Given the description of an element on the screen output the (x, y) to click on. 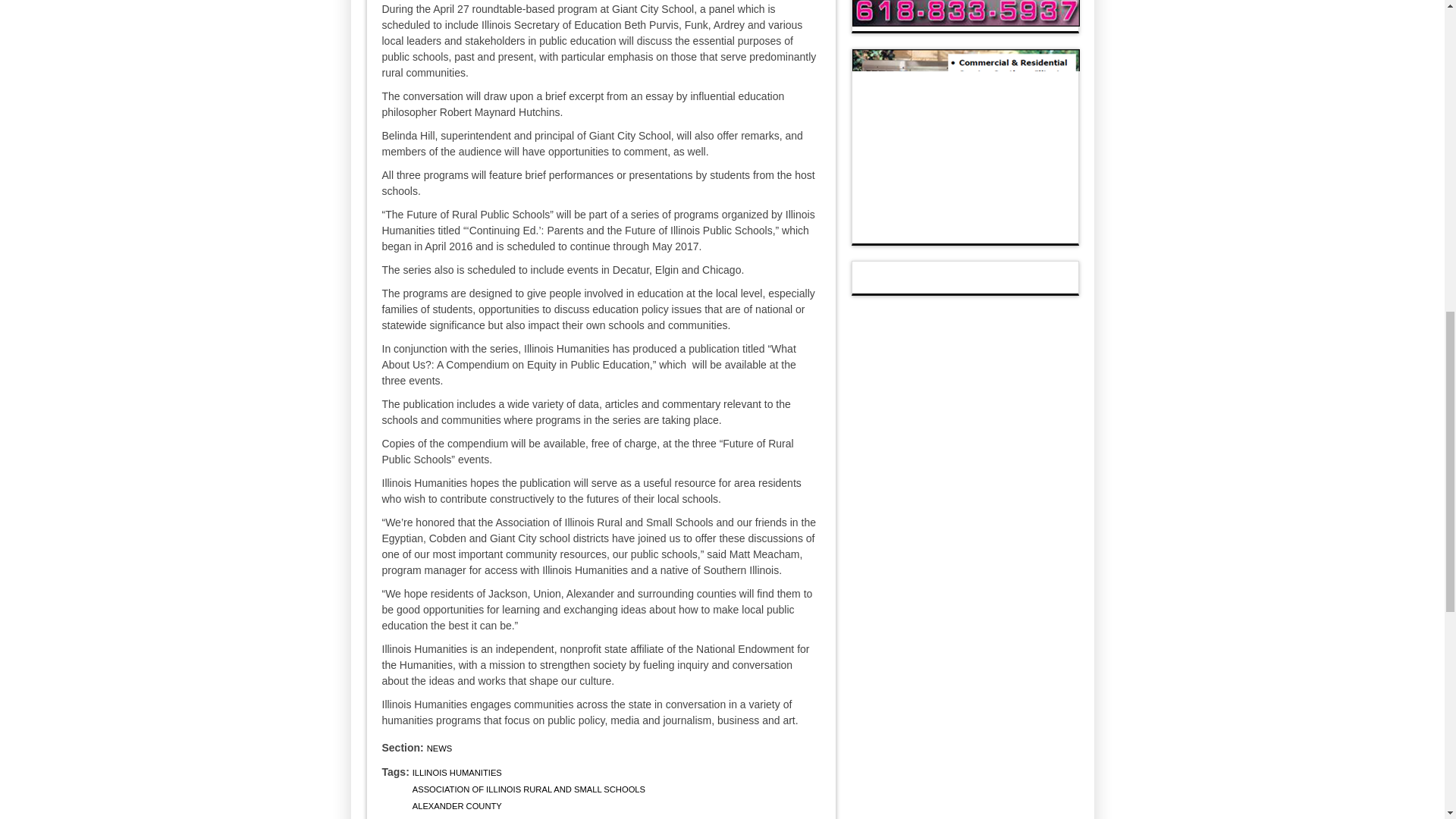
ILLINOIS HUMANITIES (457, 772)
ALEXANDER COUNTY (457, 805)
NEWS (439, 747)
ASSOCIATION OF ILLINOIS RURAL AND SMALL SCHOOLS (528, 788)
UNION COUNTY (444, 818)
